Given the description of an element on the screen output the (x, y) to click on. 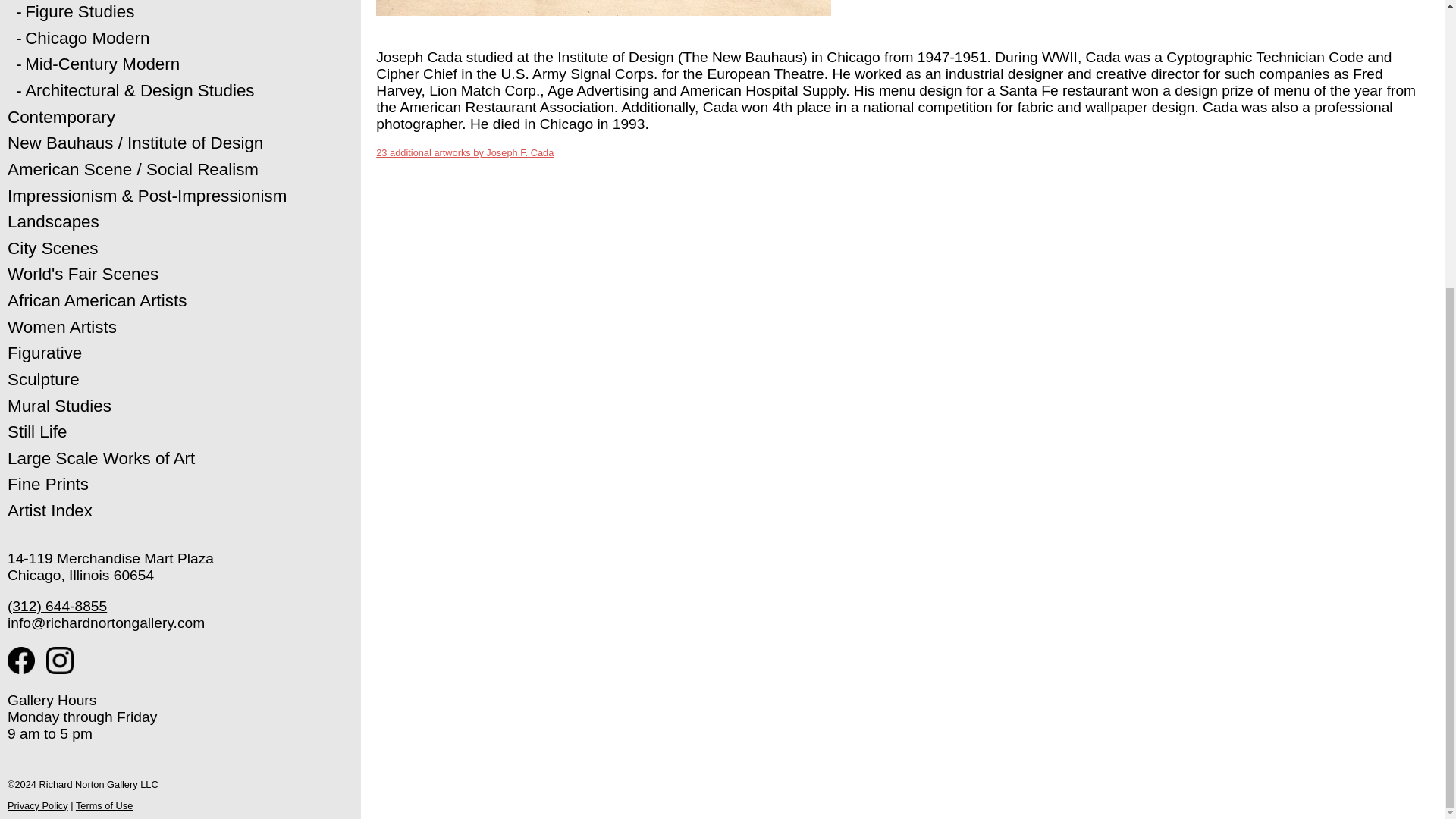
Chicago Modern (86, 37)
World's Fair Scenes (82, 273)
Fine Prints (47, 484)
Still Life (36, 431)
Contemporary (61, 116)
Mid-Century Modern (101, 63)
Large Scale Works of Art (101, 457)
African American Artists (96, 300)
Women Artists (61, 326)
Artist Index (50, 510)
